Given the description of an element on the screen output the (x, y) to click on. 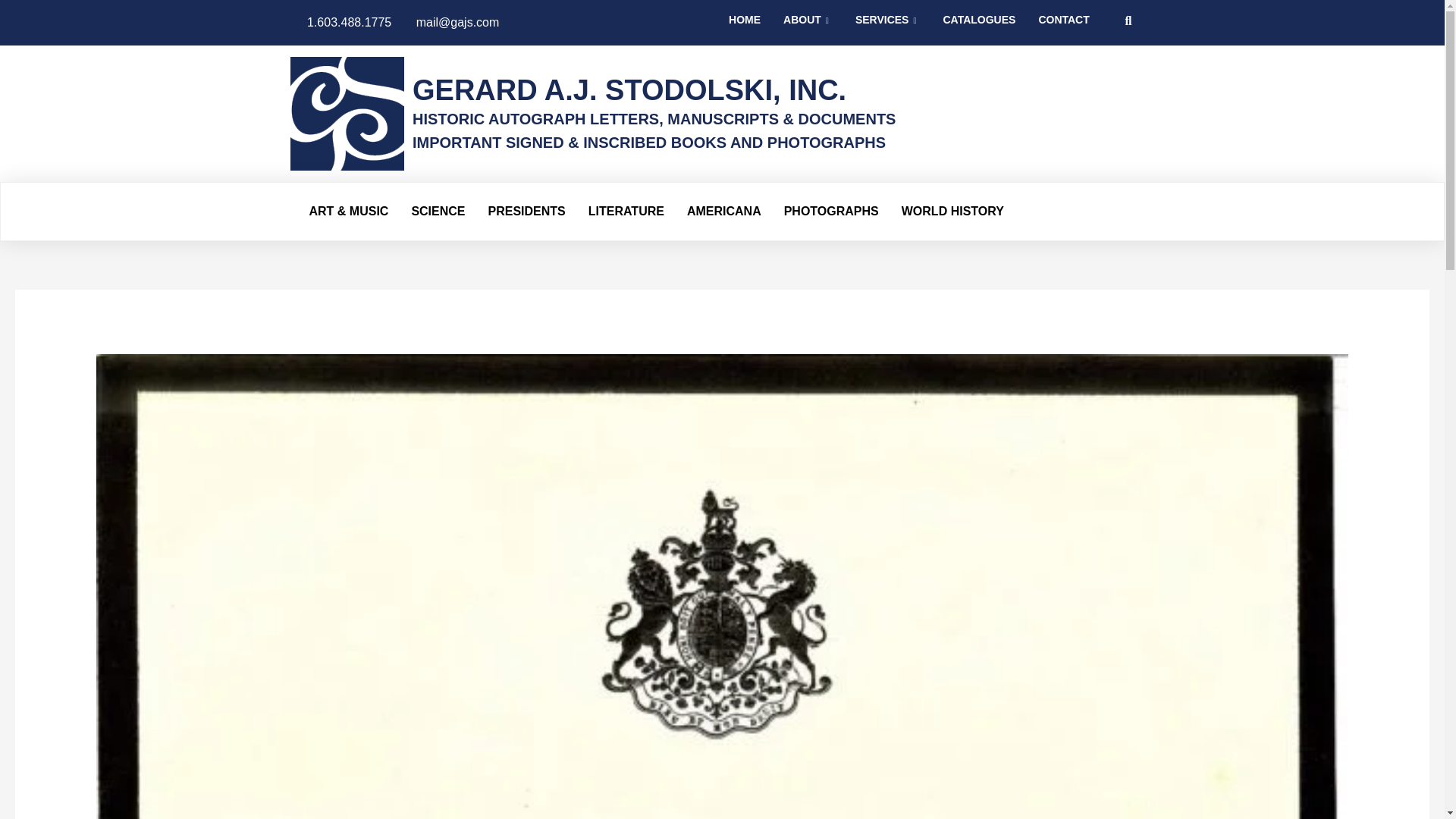
AMERICANA (724, 211)
HOME (744, 25)
LITERATURE (625, 211)
PHOTOGRAPHS (831, 211)
CONTACT (1063, 25)
PRESIDENTS (526, 211)
SERVICES (887, 25)
ABOUT (807, 25)
1.603.488.1775 (340, 22)
CATALOGUES (978, 25)
